Given the description of an element on the screen output the (x, y) to click on. 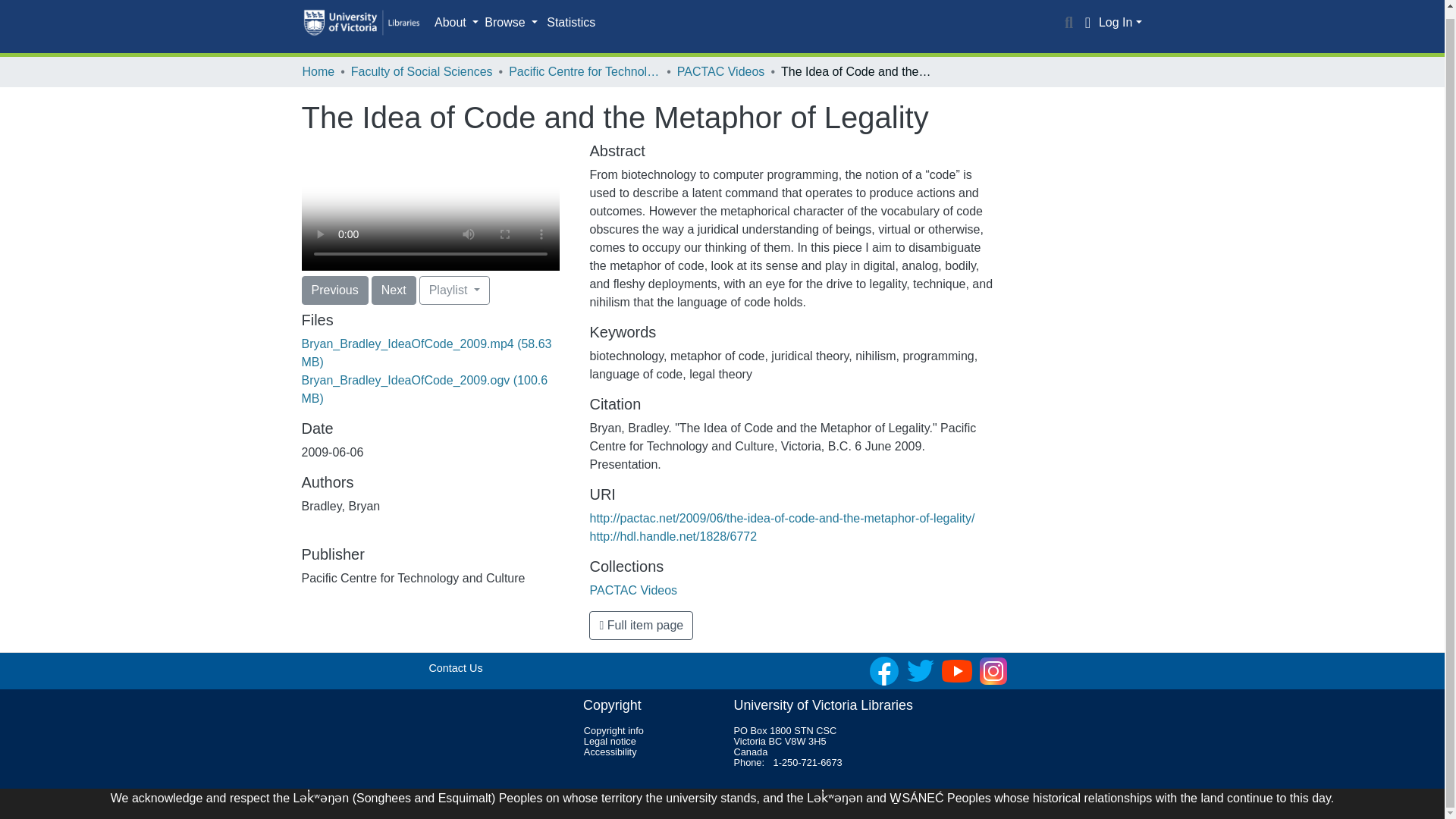
PACTAC Videos (721, 72)
Playlist (454, 290)
Faculty of Social Sciences (421, 72)
Home (317, 72)
Language switch (1087, 22)
Previous (334, 290)
About (455, 22)
Browse (510, 22)
Log In (1119, 21)
Statistics (570, 22)
Search (1068, 22)
Statistics (570, 22)
Next (393, 290)
